Given the description of an element on the screen output the (x, y) to click on. 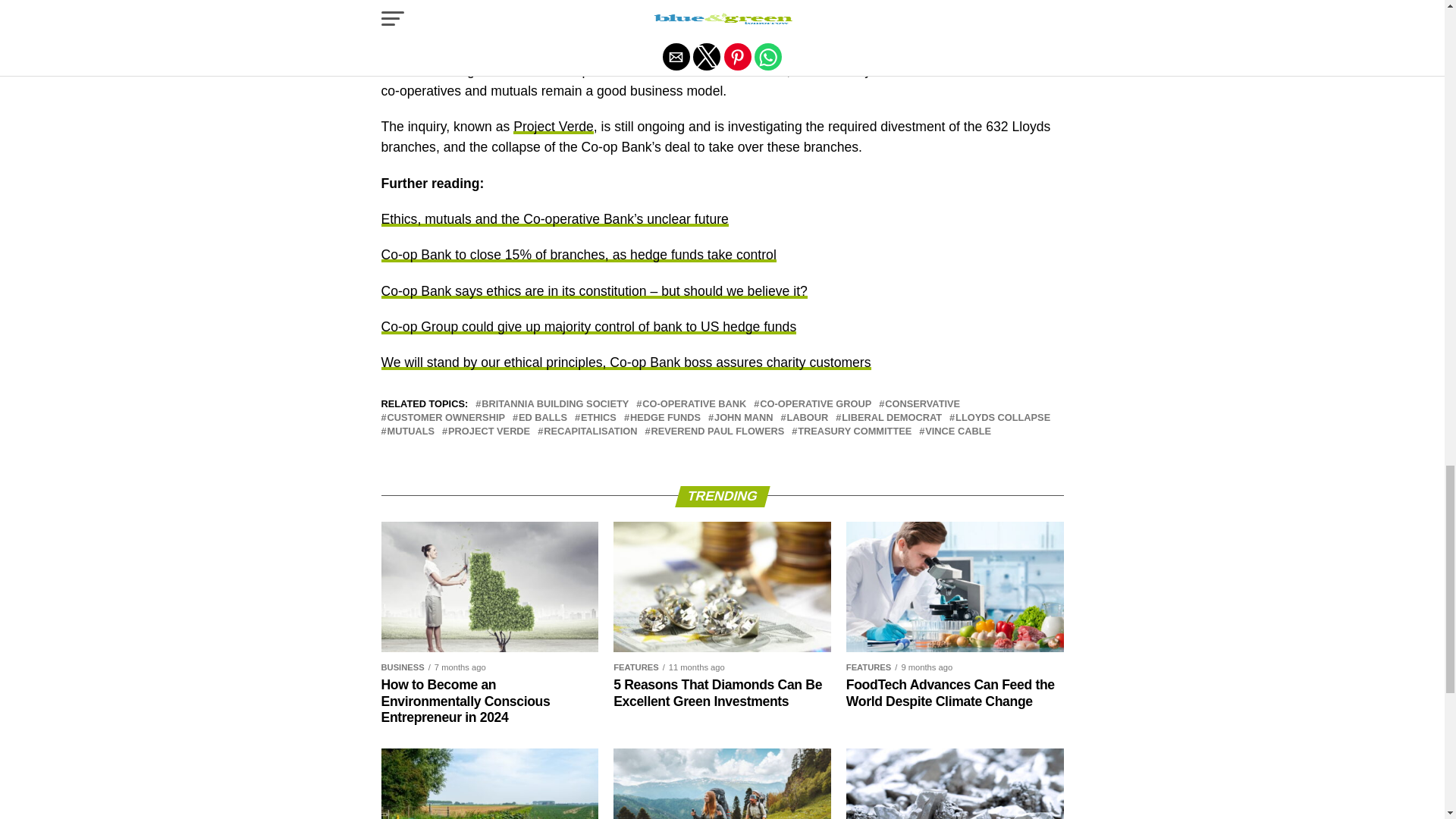
HEDGE FUNDS (665, 418)
LIBERAL DEMOCRAT (891, 418)
BRITANNIA BUILDING SOCIETY (554, 404)
ETHICS (597, 418)
ED BALLS (542, 418)
VINCE CABLE (957, 431)
LABOUR (807, 418)
CO-OPERATIVE BANK (693, 404)
MUTUALS (410, 431)
RECAPITALISATION (590, 431)
CUSTOMER OWNERSHIP (445, 418)
CO-OPERATIVE GROUP (815, 404)
